Given the description of an element on the screen output the (x, y) to click on. 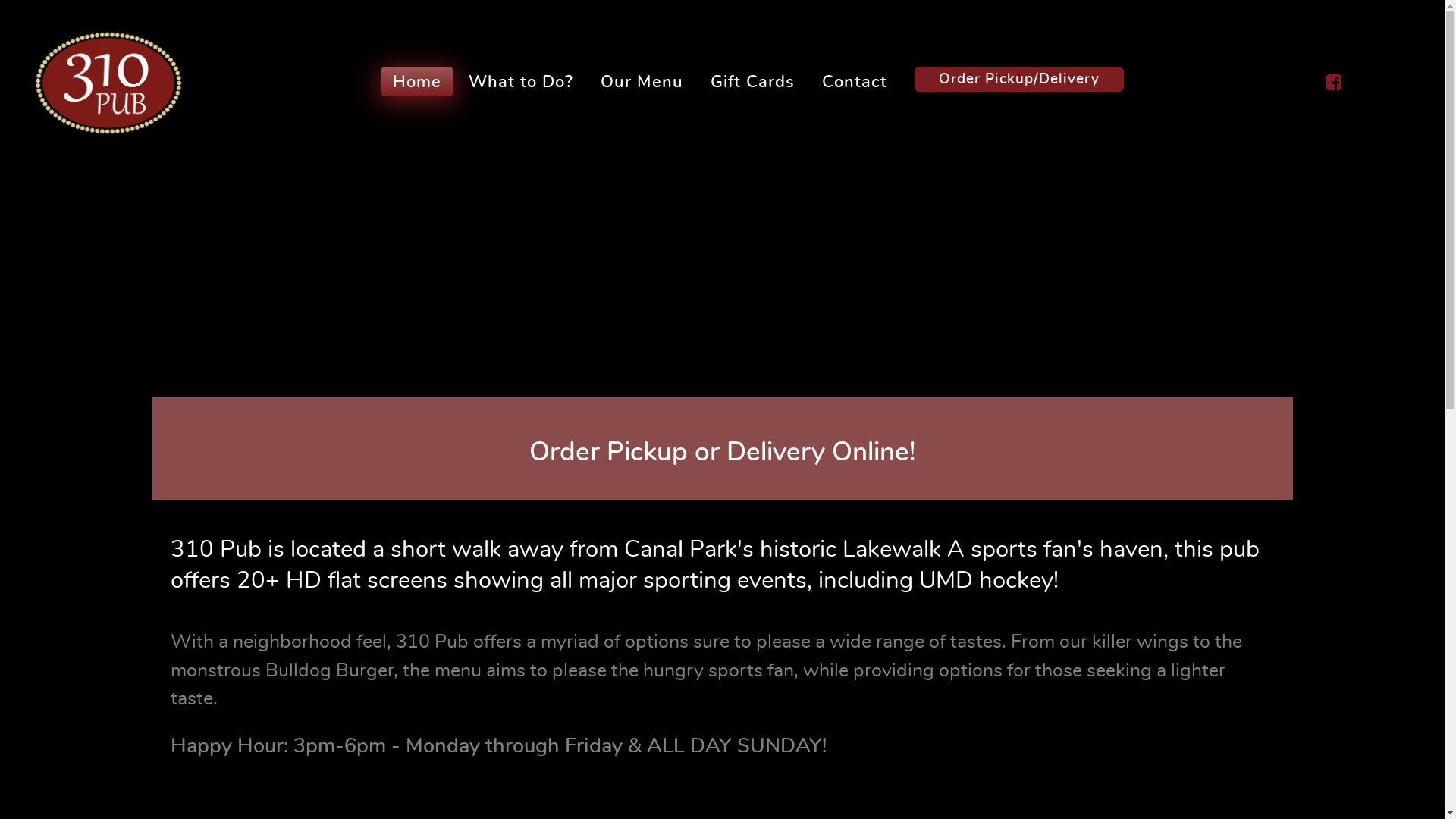
What to Do? Element type: text (520, 81)
Gift Cards Element type: text (752, 81)
Order Pickup/Delivery Element type: text (1018, 79)
Our Menu Element type: text (641, 81)
Order Pickup or Delivery Online! Element type: text (722, 452)
Contact Element type: text (854, 81)
Home Element type: text (416, 81)
